Given the description of an element on the screen output the (x, y) to click on. 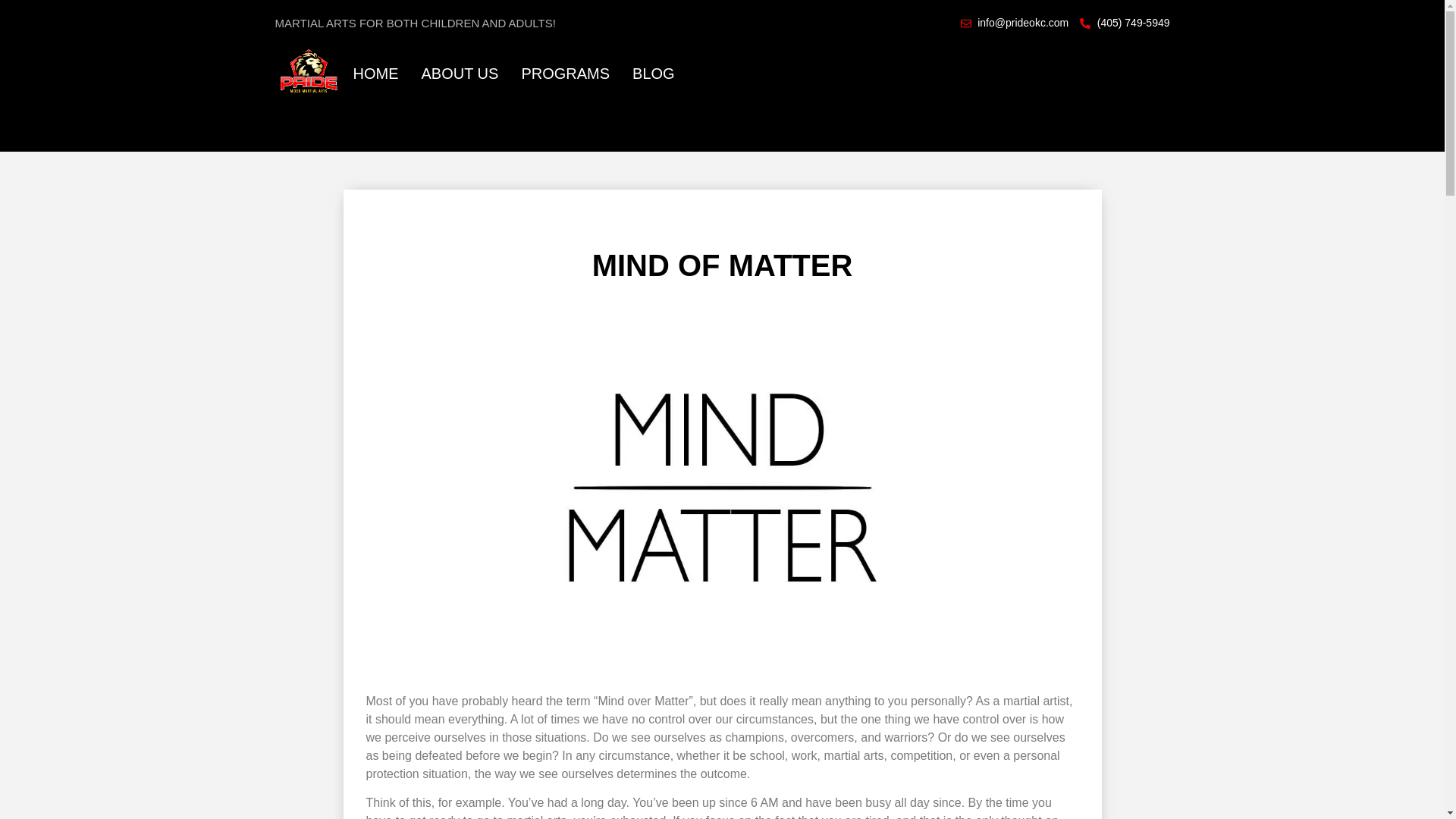
HOME (375, 73)
ABOUT US (460, 73)
BLOG (653, 73)
PROGRAMS (565, 73)
